Given the description of an element on the screen output the (x, y) to click on. 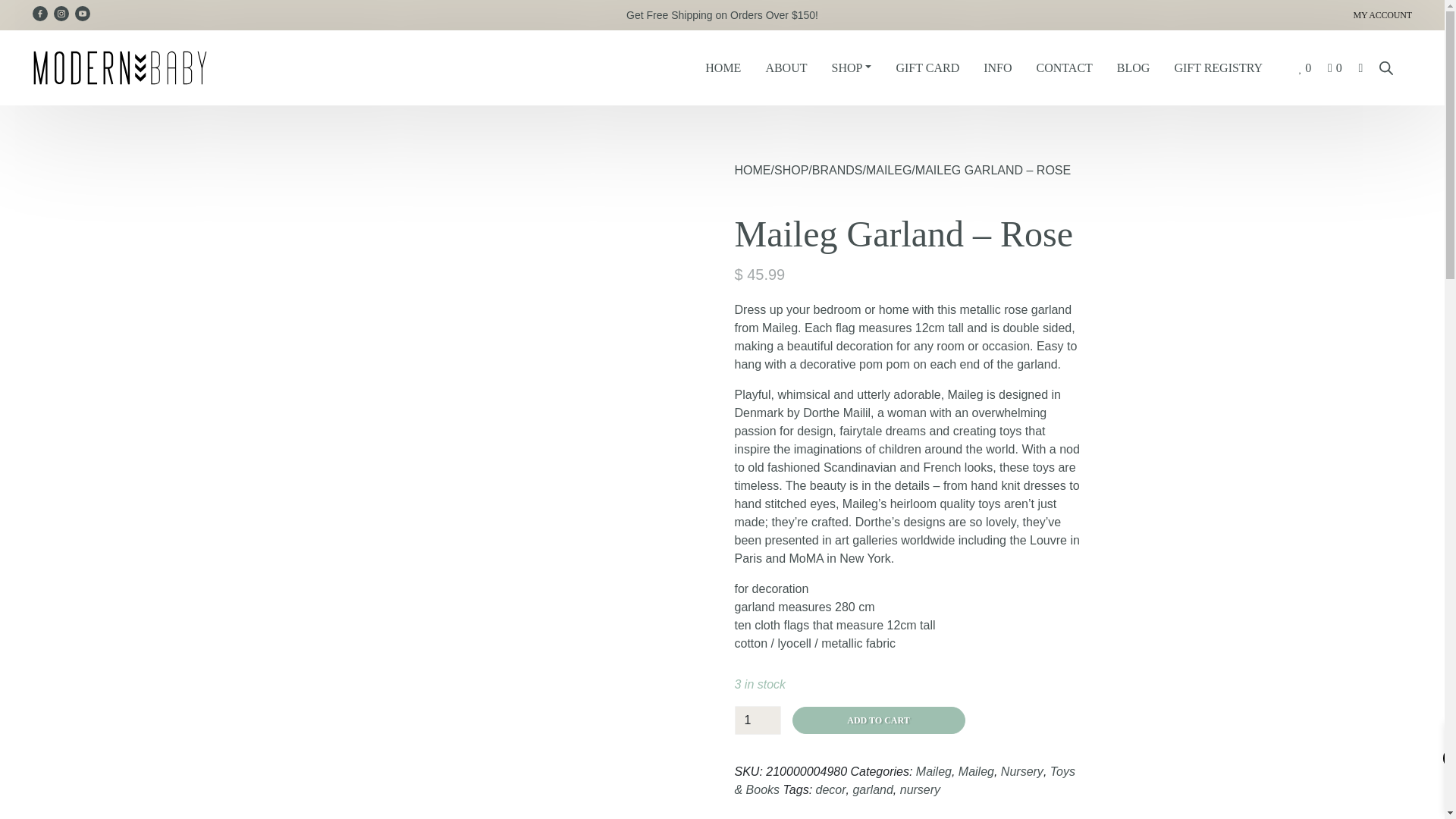
1 (756, 719)
Home (722, 68)
MY ACCOUNT (1185, 15)
ABOUT (785, 68)
Shop (850, 68)
SHOP (850, 68)
HOME (722, 68)
About (785, 68)
